Given the description of an element on the screen output the (x, y) to click on. 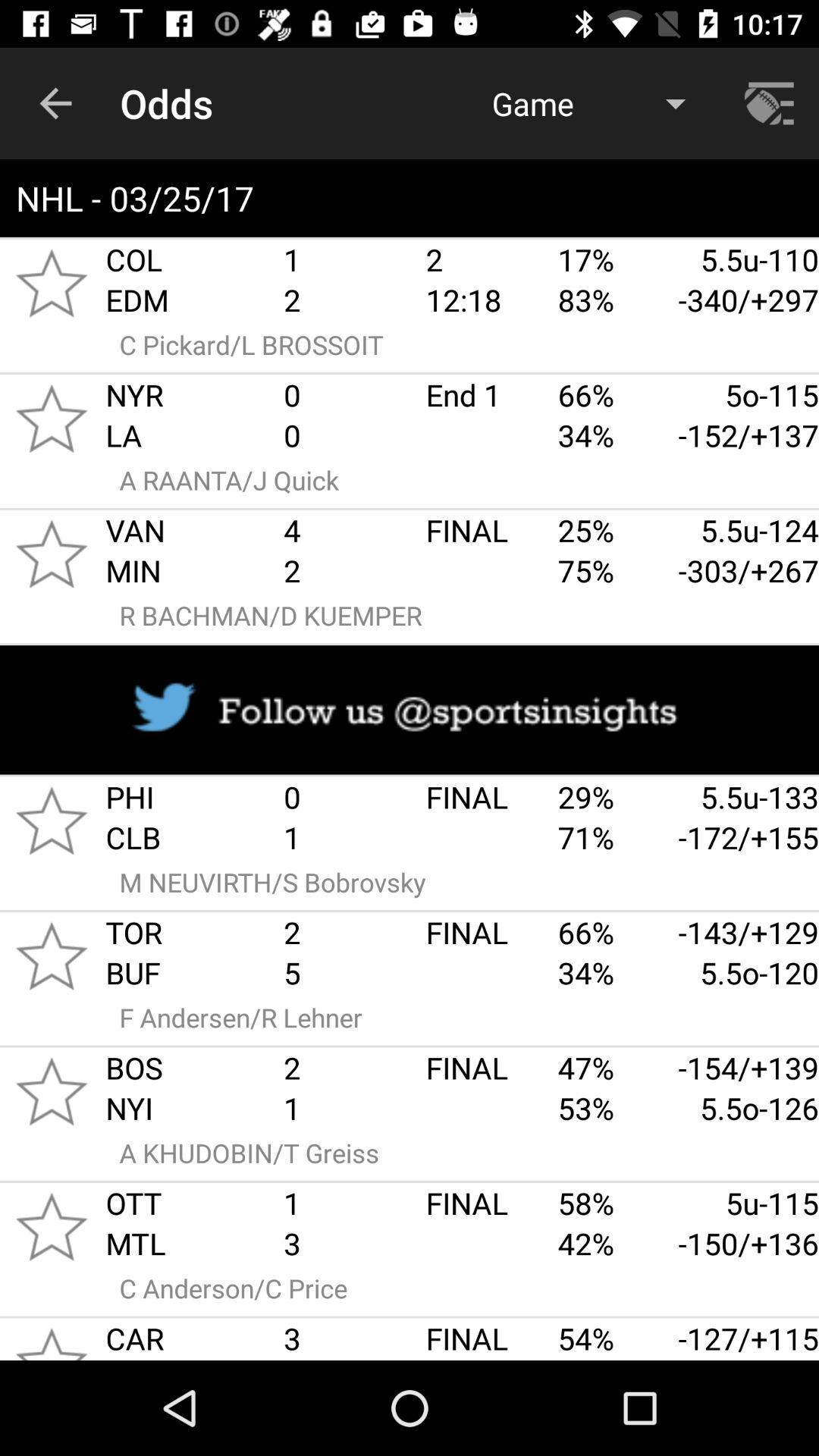
go to setting (771, 103)
